Given the description of an element on the screen output the (x, y) to click on. 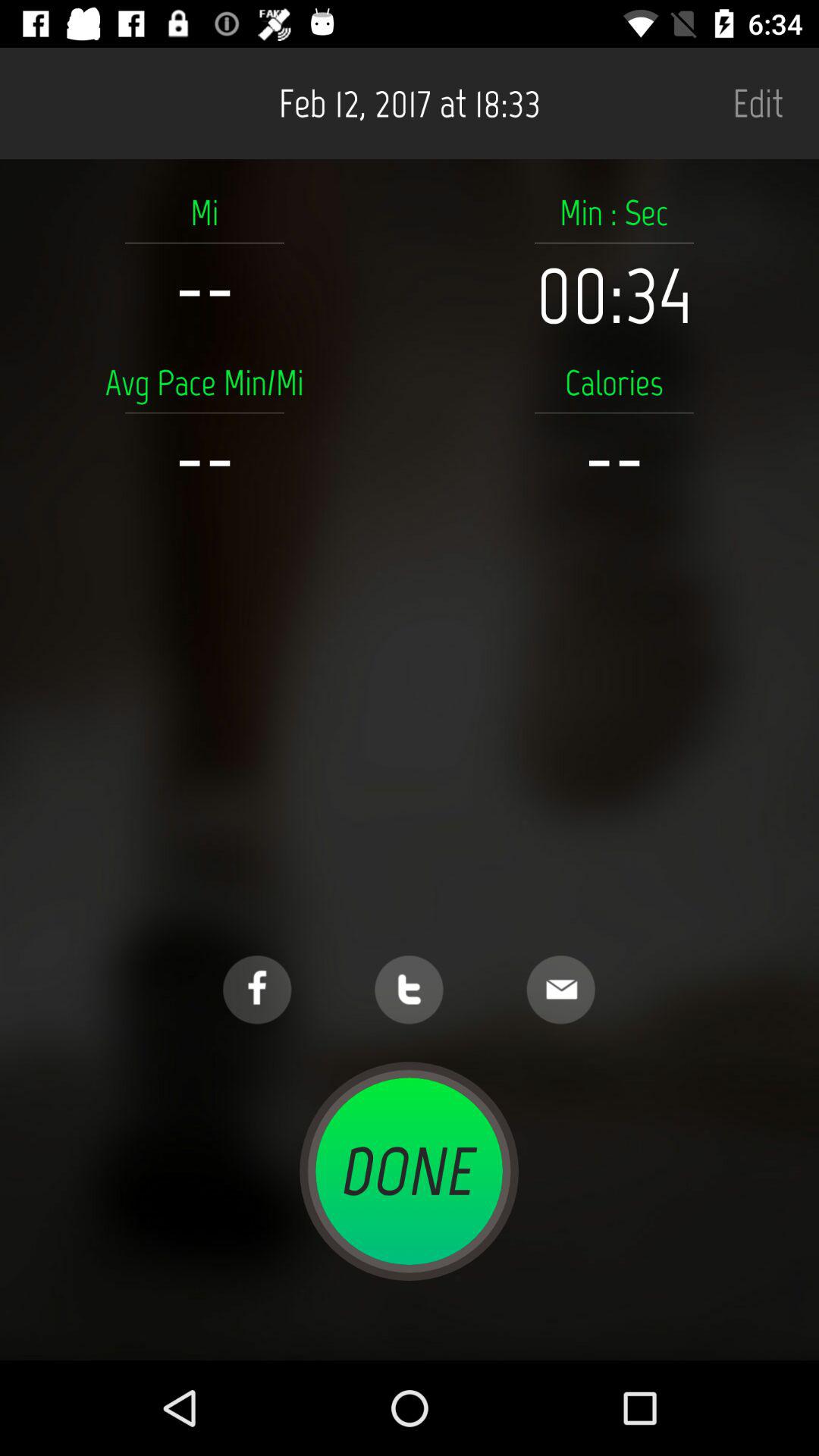
scroll to the edit item (757, 103)
